Given the description of an element on the screen output the (x, y) to click on. 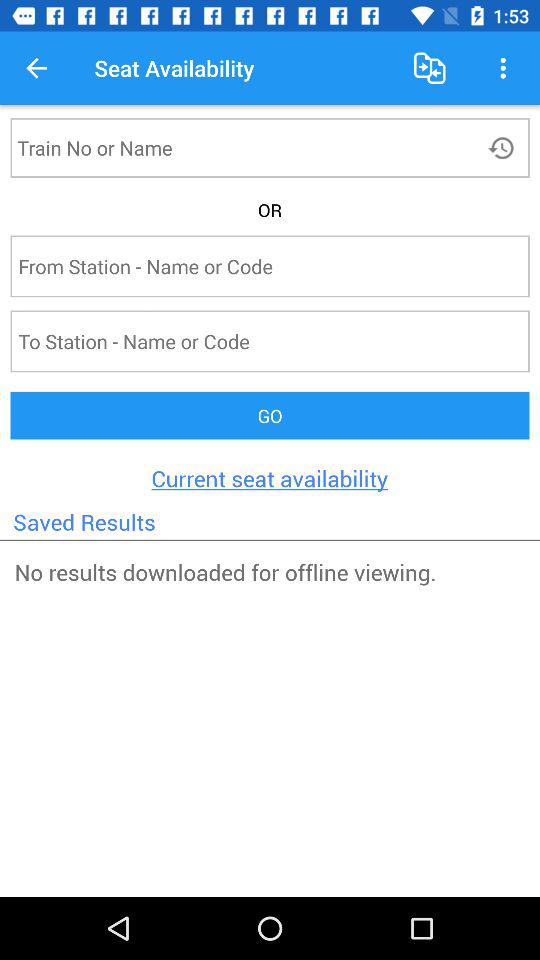
turn off item next to the seat availability item (429, 67)
